Given the description of an element on the screen output the (x, y) to click on. 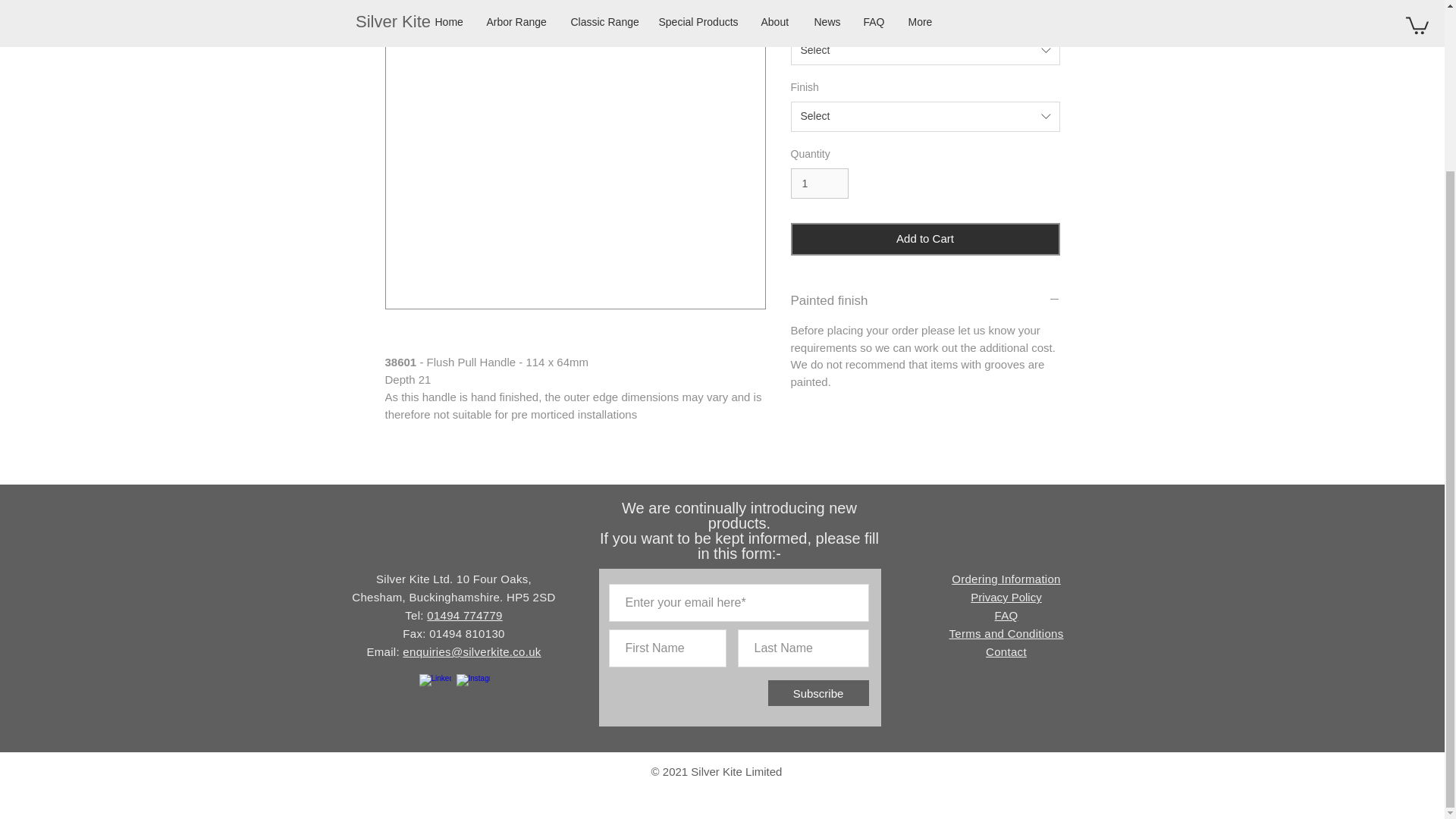
Terms and Conditions (1005, 633)
1 (818, 183)
Privacy Policy (1006, 596)
Ordering Information (1006, 578)
Subscribe (817, 692)
01494 774779 (464, 615)
Select (924, 116)
Contact (1005, 651)
Painted finish (924, 300)
FAQ (1005, 615)
